Given the description of an element on the screen output the (x, y) to click on. 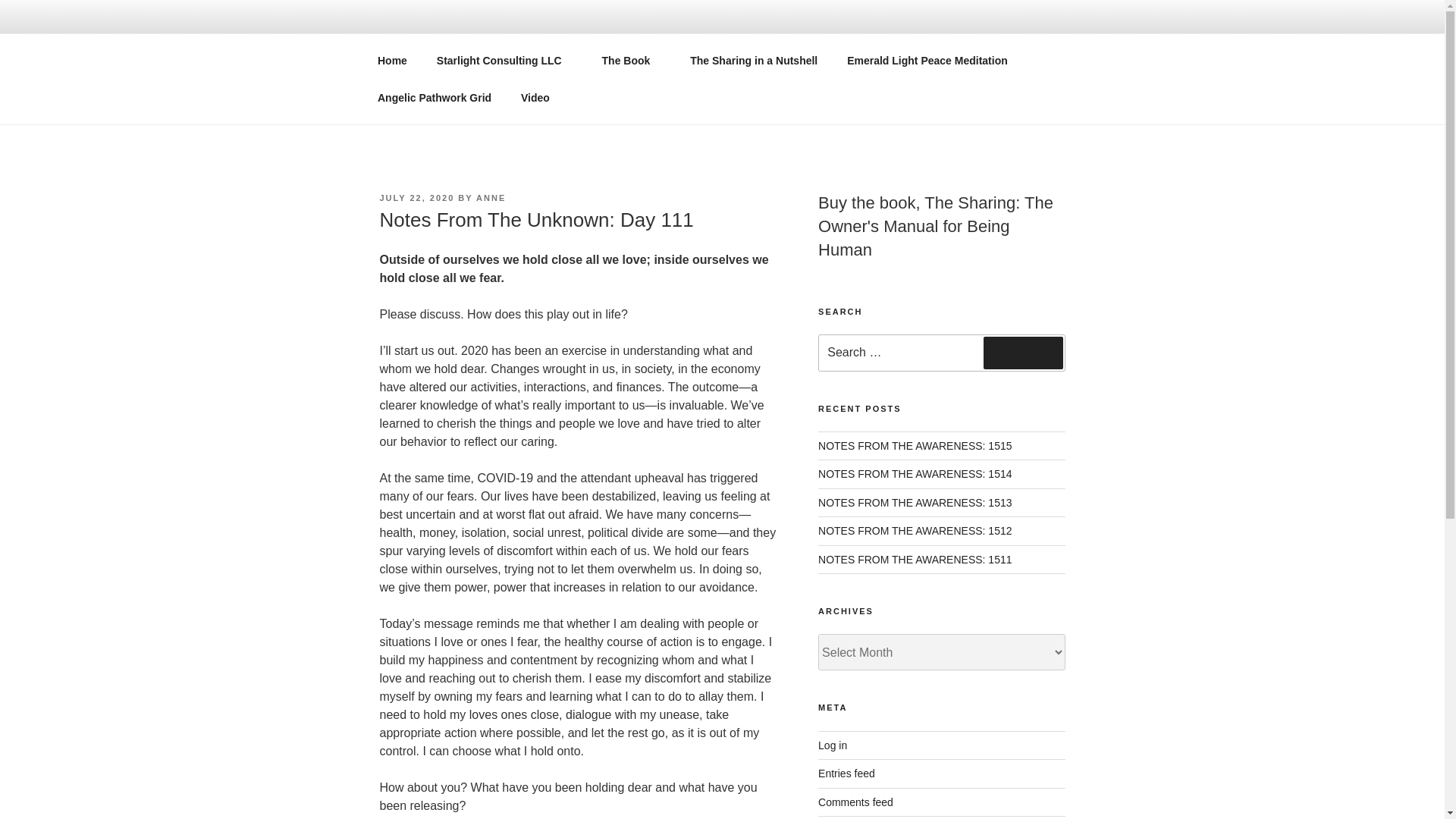
NOTES FROM THE AWARENESS: 1515 (914, 445)
NOTES FROM THE AWARENESS: 1514 (914, 473)
Video (535, 97)
JULY 22, 2020 (416, 197)
Search (1023, 352)
Angelic Pathwork Grid (433, 97)
Home (392, 60)
The Sharing in a Nutshell (754, 60)
Emerald Light Peace Meditation (928, 60)
Starlight Consulting LLC (504, 60)
